Given the description of an element on the screen output the (x, y) to click on. 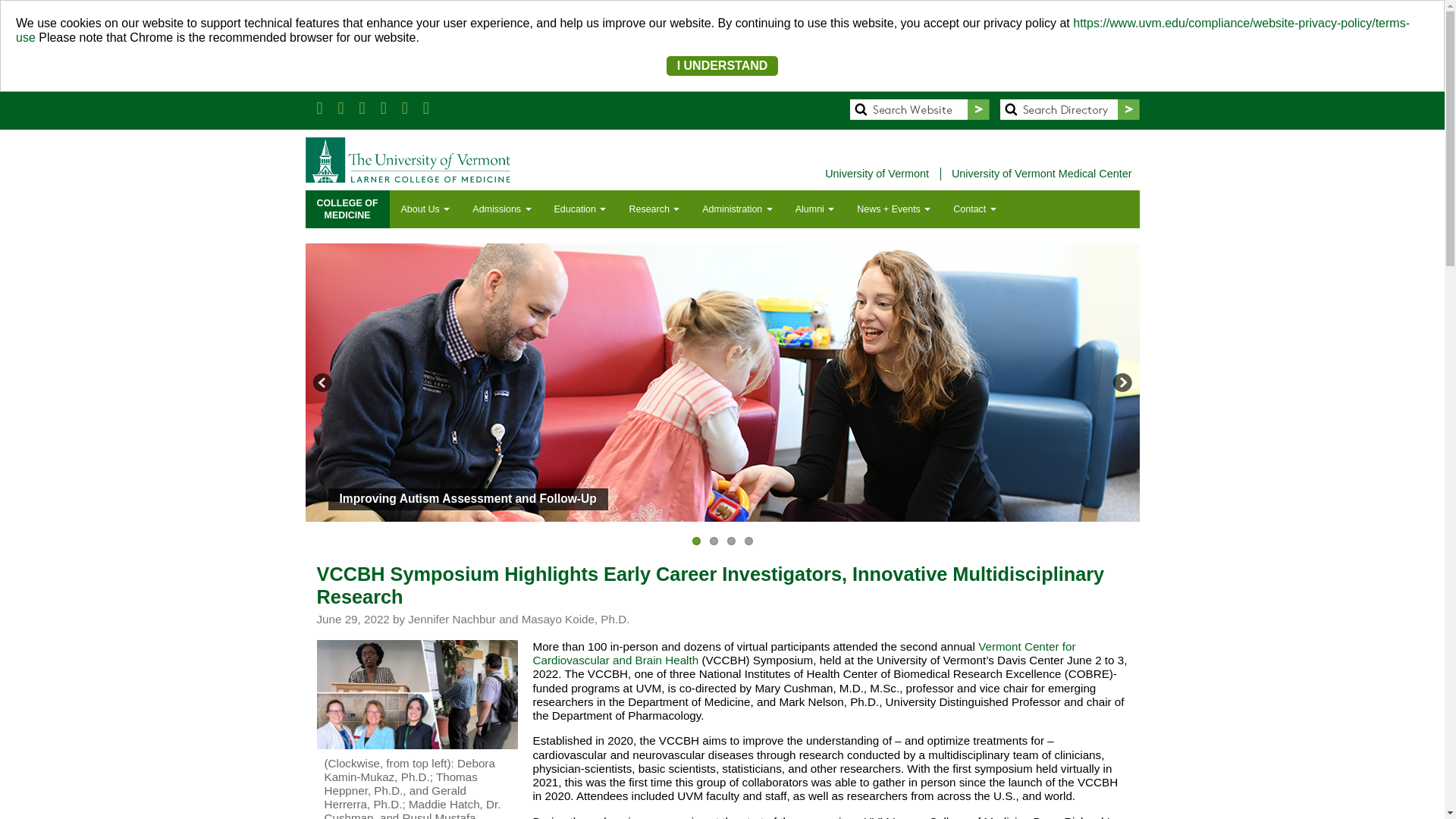
University of Vermont (878, 173)
Education (580, 209)
Research (653, 209)
Admissions (501, 209)
I UNDERSTAND (722, 65)
About Us (425, 209)
University of Vermont Medical Center (1041, 173)
